Given the description of an element on the screen output the (x, y) to click on. 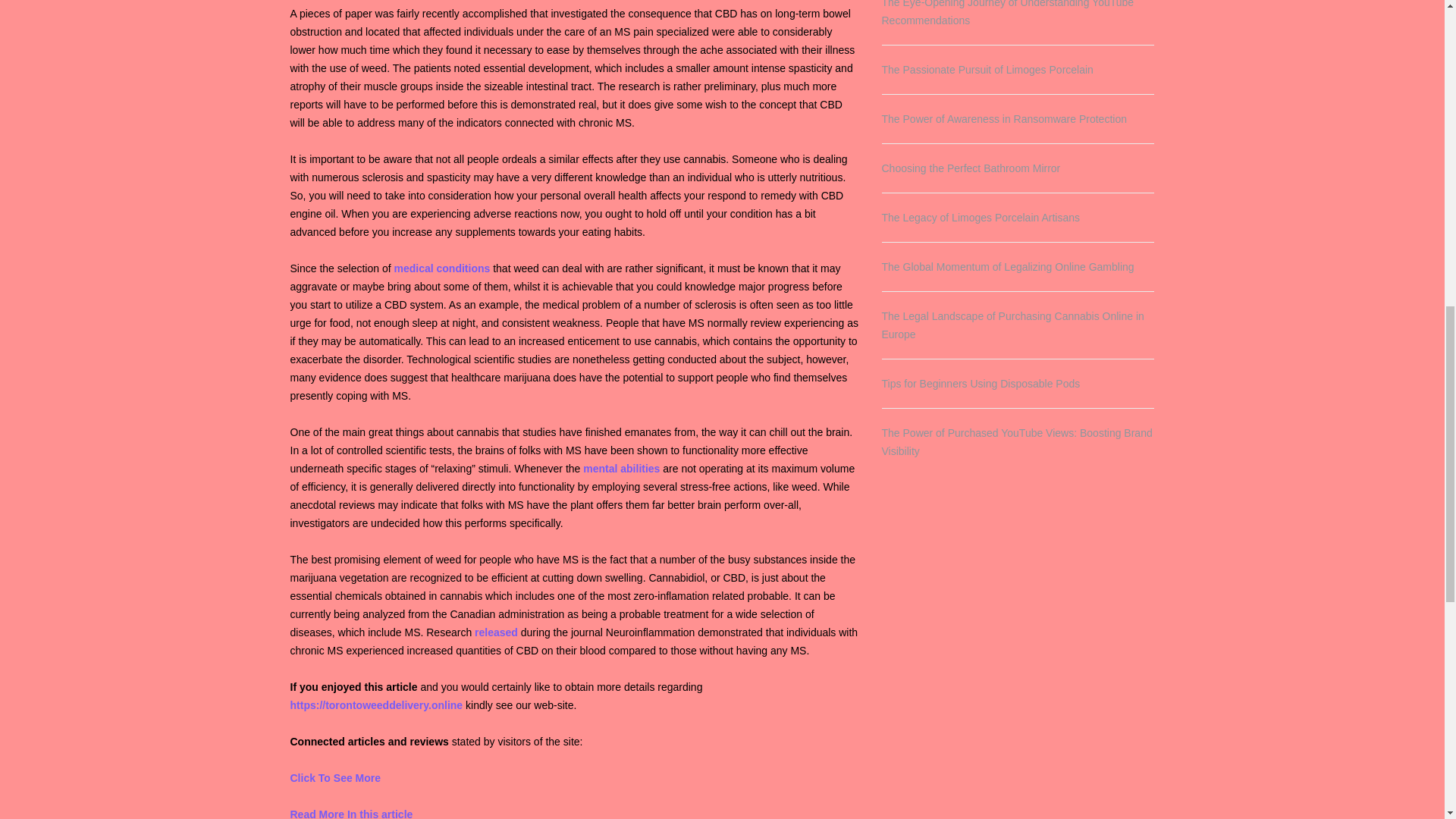
mental abilities (621, 468)
released (496, 632)
Click To See More (334, 777)
Read More In this article (350, 813)
medical conditions (441, 268)
